Given the description of an element on the screen output the (x, y) to click on. 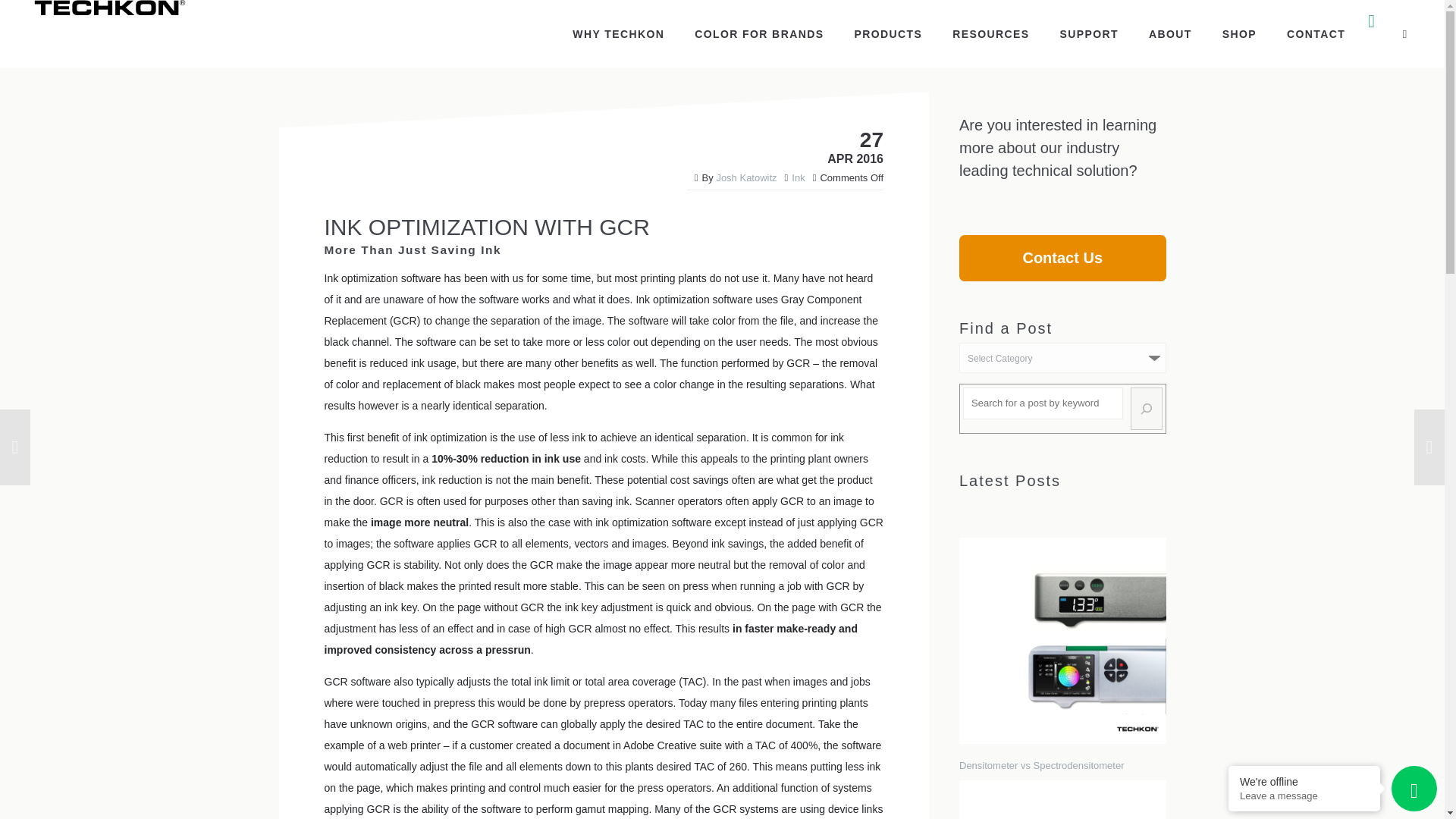
Leave a message (1304, 795)
We're offline (1304, 781)
View all posts by Josh Katowitz (746, 177)
